Given the description of an element on the screen output the (x, y) to click on. 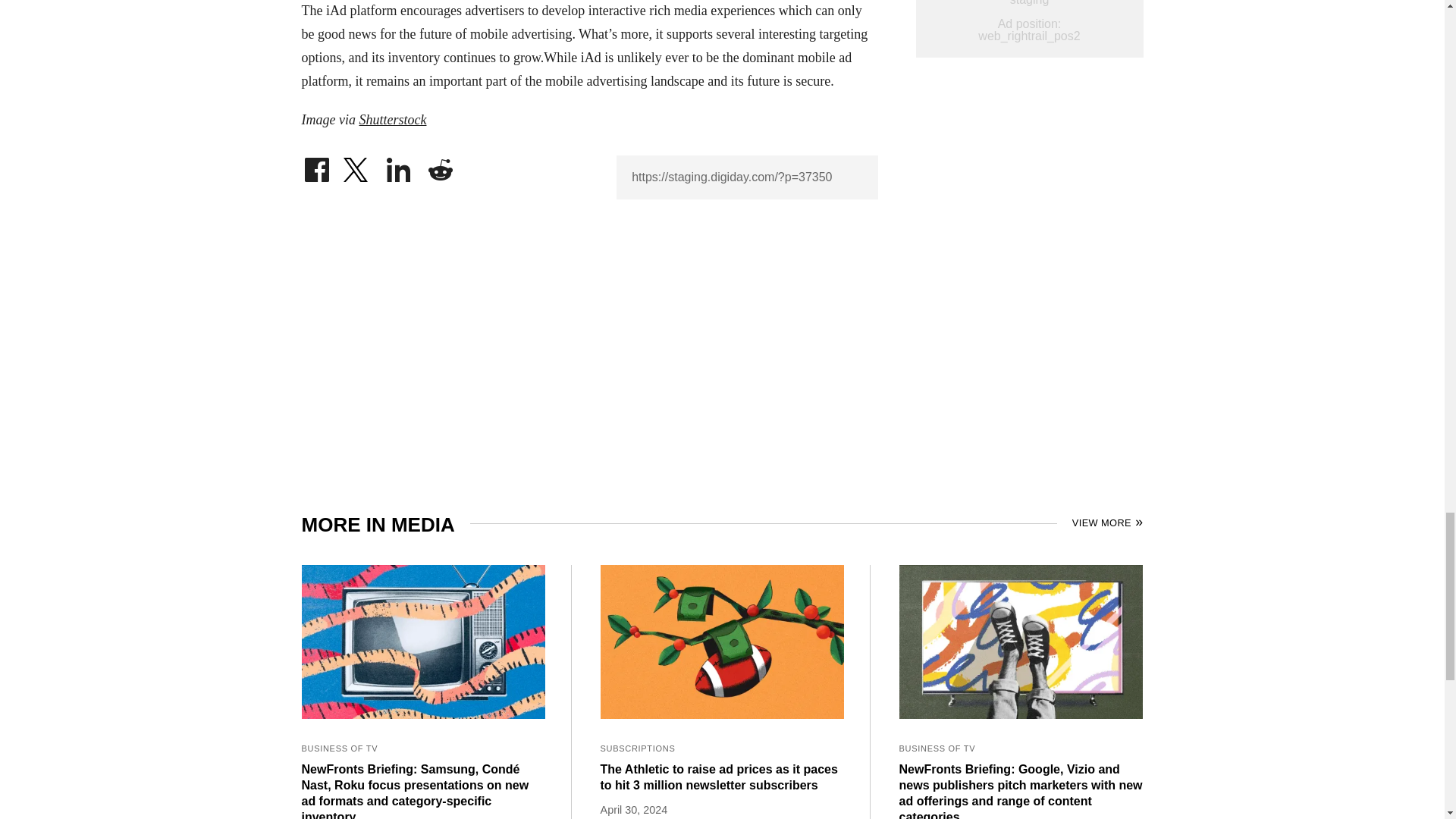
Share on Twitter (357, 165)
Share on Reddit (440, 165)
Share on Facebook (316, 165)
Share on LinkedIn (398, 165)
